Given the description of an element on the screen output the (x, y) to click on. 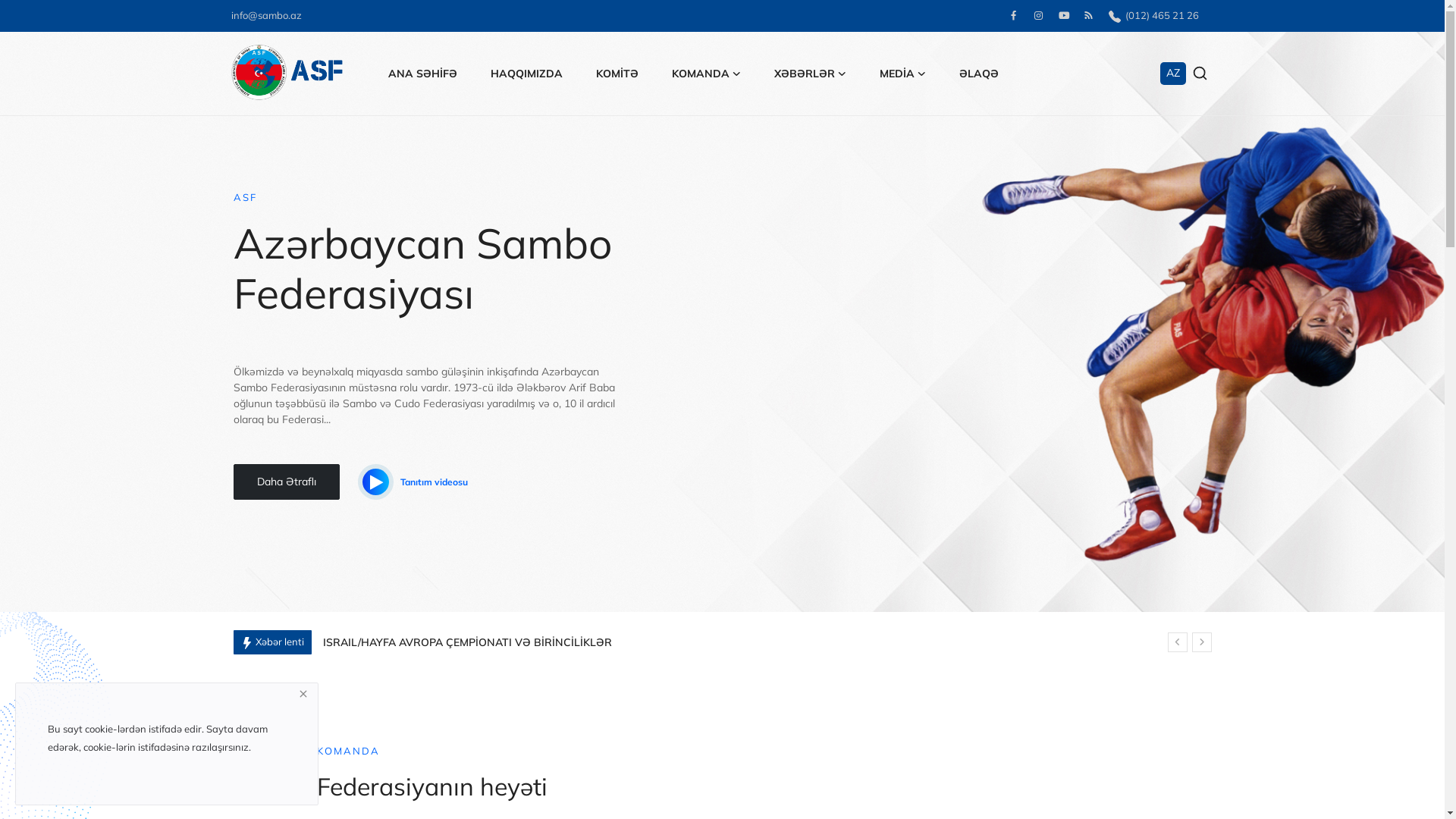
MEDIA Element type: text (902, 73)
info@sambo.az Element type: text (265, 15)
dark Element type: text (38, 340)
AZ Element type: text (1173, 73)
KOMANDA Element type: text (706, 73)
  (012) 465 21 26 Element type: text (1153, 15)
HAQQIMIZDA Element type: text (526, 73)
